Given the description of an element on the screen output the (x, y) to click on. 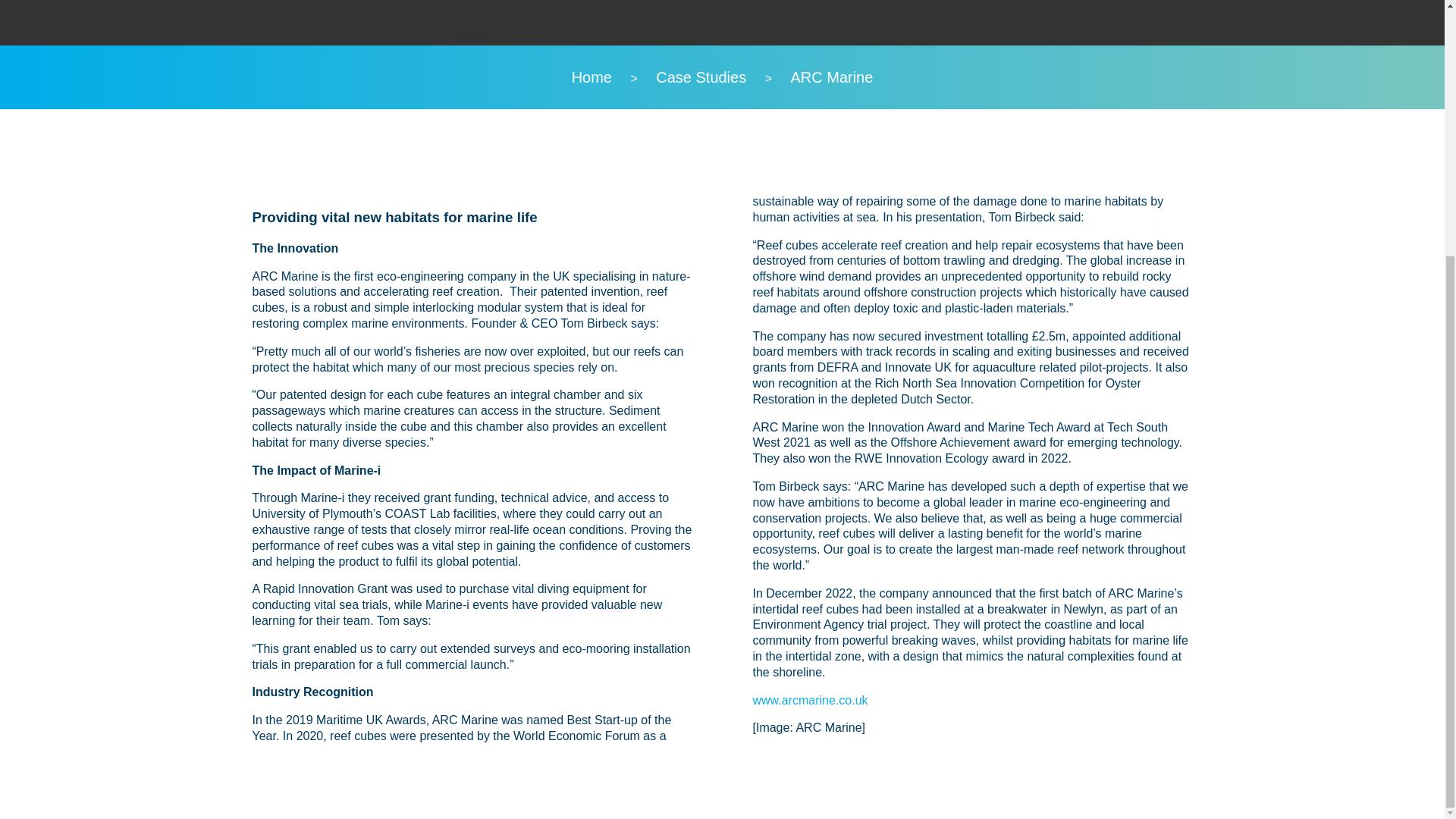
Case Studies (700, 76)
ARC Marine (831, 76)
Home (591, 76)
www.arcmarine.co.uk (809, 699)
